Given the description of an element on the screen output the (x, y) to click on. 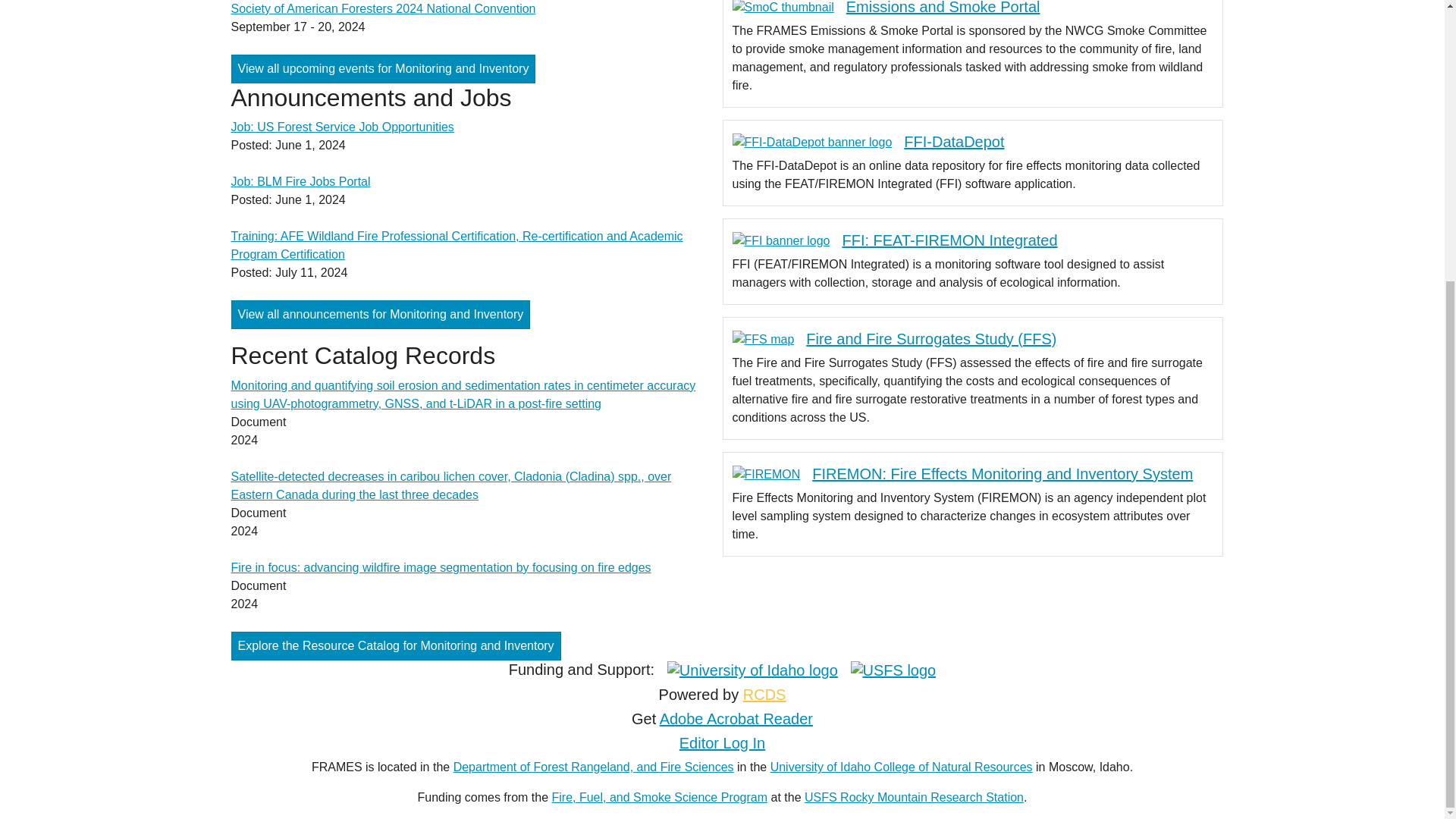
Go to the Adobe Acrobat Reader website (735, 718)
